Given the description of an element on the screen output the (x, y) to click on. 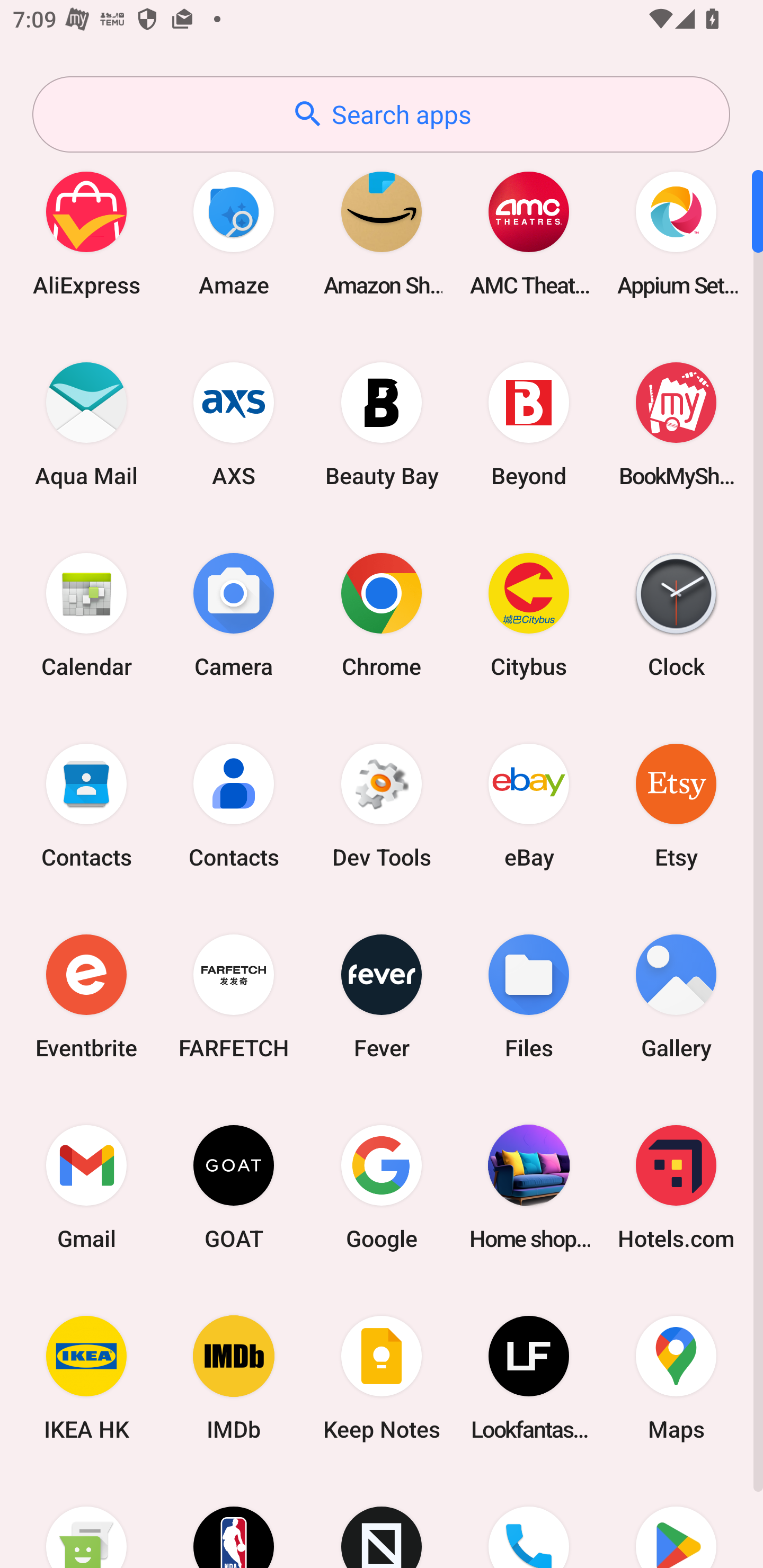
  Search apps (381, 114)
AliExpress (86, 233)
Amaze (233, 233)
Amazon Shopping (381, 233)
AMC Theatres (528, 233)
Appium Settings (676, 233)
Aqua Mail (86, 424)
AXS (233, 424)
Beauty Bay (381, 424)
Beyond (528, 424)
BookMyShow (676, 424)
Calendar (86, 614)
Camera (233, 614)
Chrome (381, 614)
Citybus (528, 614)
Clock (676, 614)
Contacts (86, 805)
Contacts (233, 805)
Dev Tools (381, 805)
eBay (528, 805)
Etsy (676, 805)
Eventbrite (86, 996)
FARFETCH (233, 996)
Fever (381, 996)
Files (528, 996)
Gallery (676, 996)
Gmail (86, 1186)
GOAT (233, 1186)
Google (381, 1186)
Home shopping (528, 1186)
Hotels.com (676, 1186)
IKEA HK (86, 1377)
IMDb (233, 1377)
Keep Notes (381, 1377)
Lookfantastic (528, 1377)
Maps (676, 1377)
Messaging (86, 1520)
NBA (233, 1520)
Novelship (381, 1520)
Phone (528, 1520)
Play Store (676, 1520)
